Given the description of an element on the screen output the (x, y) to click on. 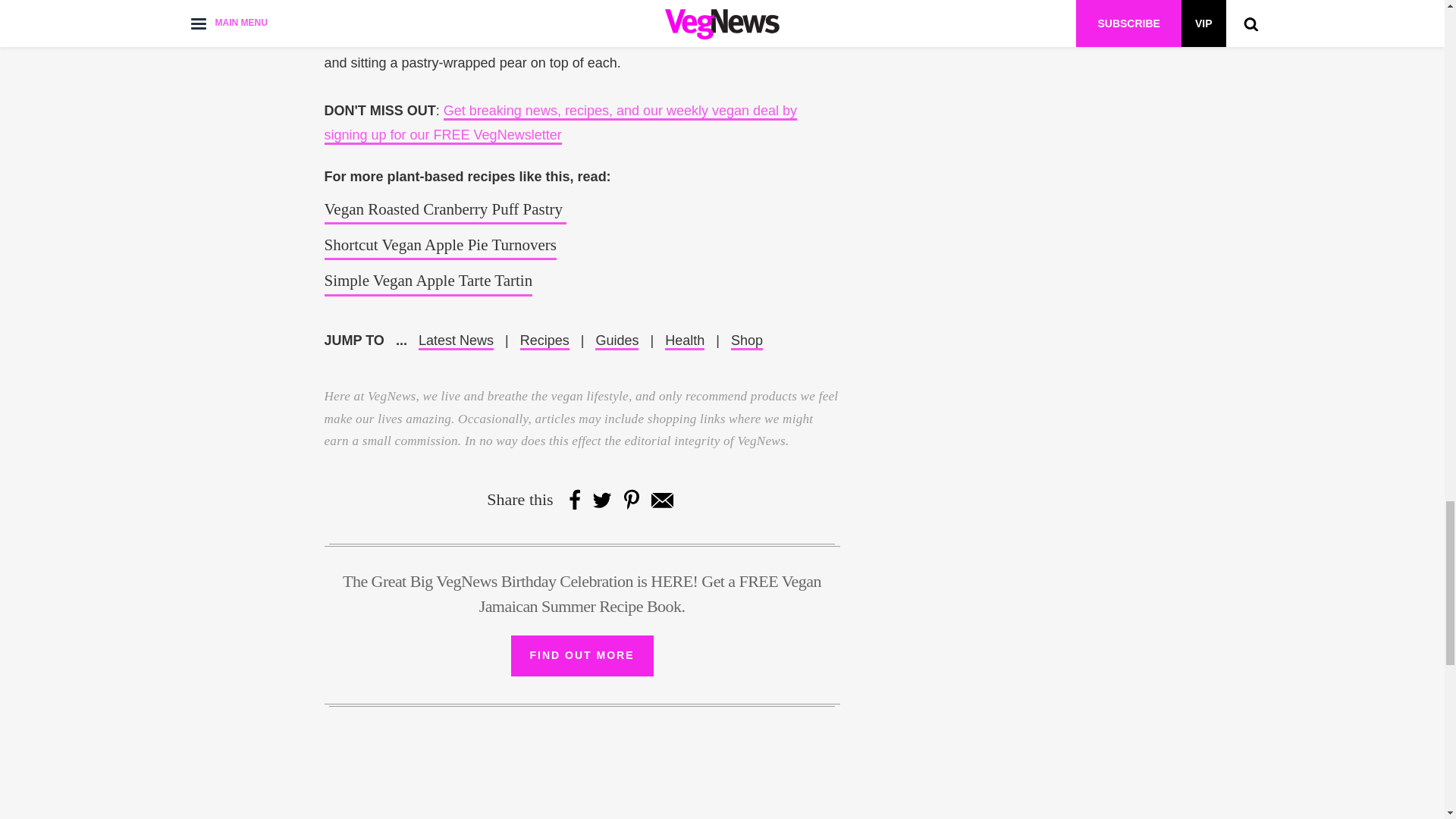
Share article via email (661, 499)
Share article on Twitter (601, 499)
